Given the description of an element on the screen output the (x, y) to click on. 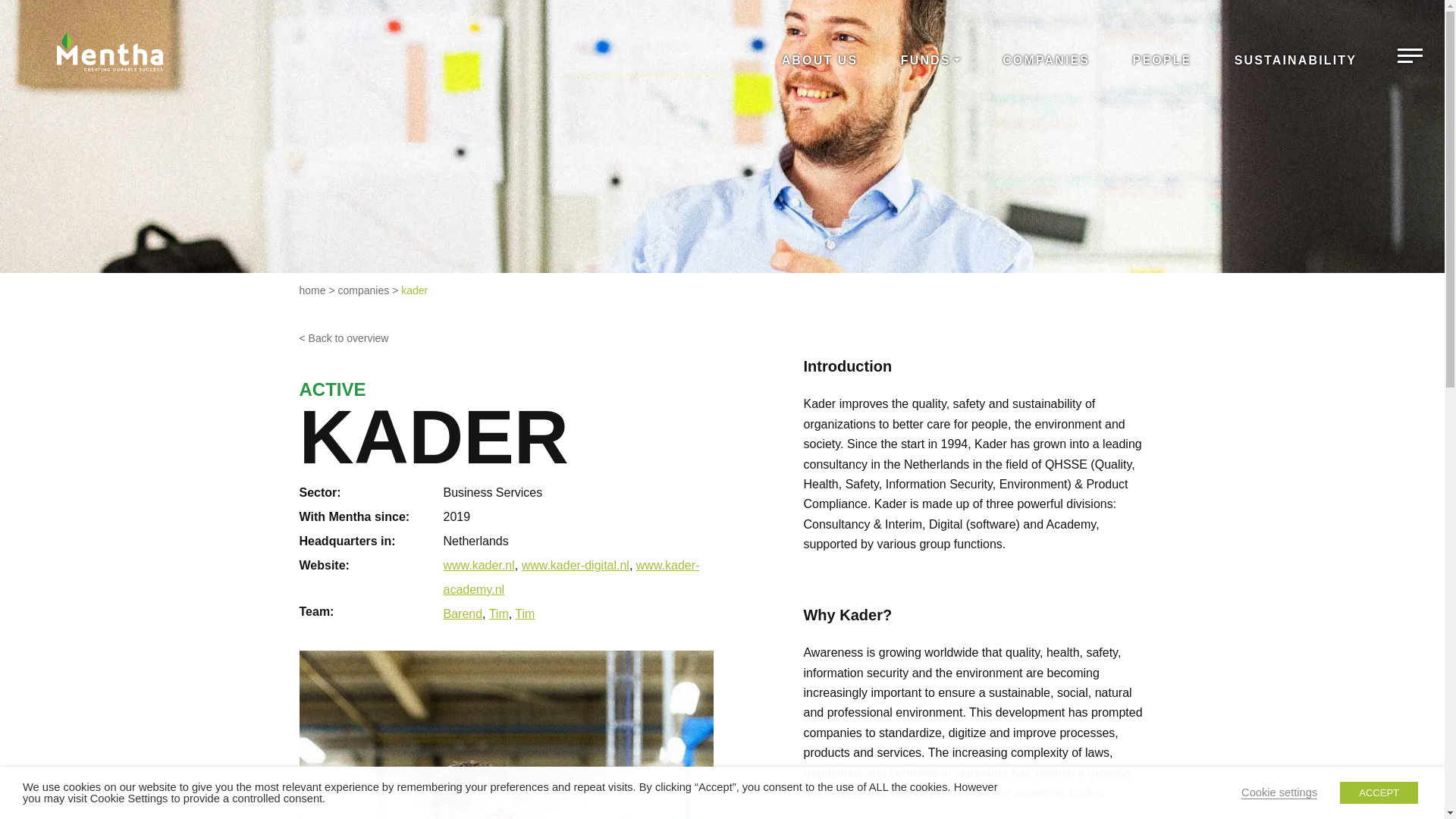
PEOPLE (1162, 60)
Funds (930, 60)
People (1162, 60)
Tim (524, 613)
ABOUT US (820, 60)
companies (363, 290)
Companies (1046, 60)
home (311, 290)
SUSTAINABILITY (1295, 60)
Tim (498, 613)
Barend (461, 613)
www.kader-academy.nl (570, 577)
FUNDS (930, 60)
Sustainability (1295, 60)
COMPANIES (1046, 60)
